Given the description of an element on the screen output the (x, y) to click on. 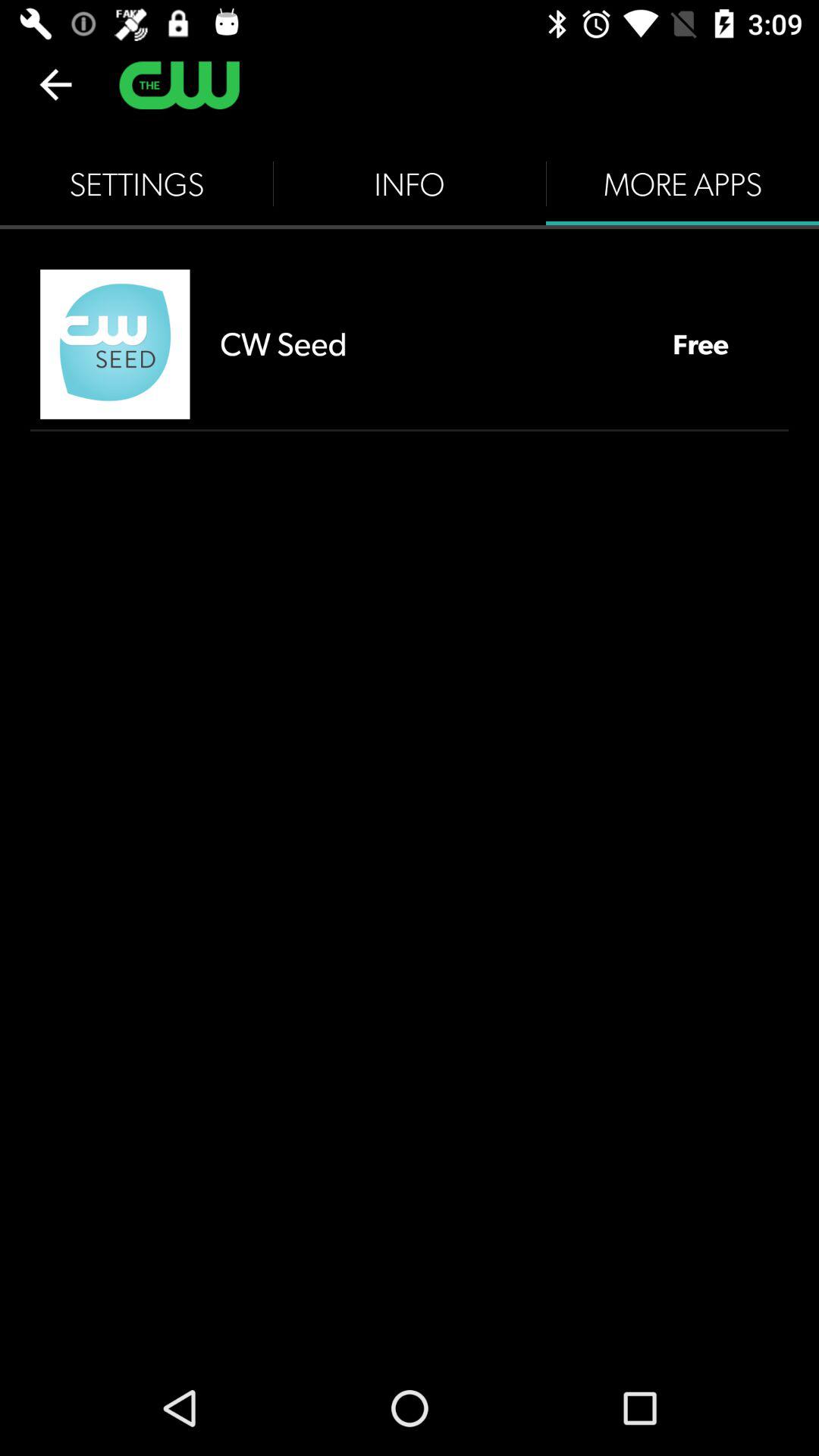
select the item below the more apps item (700, 343)
